Given the description of an element on the screen output the (x, y) to click on. 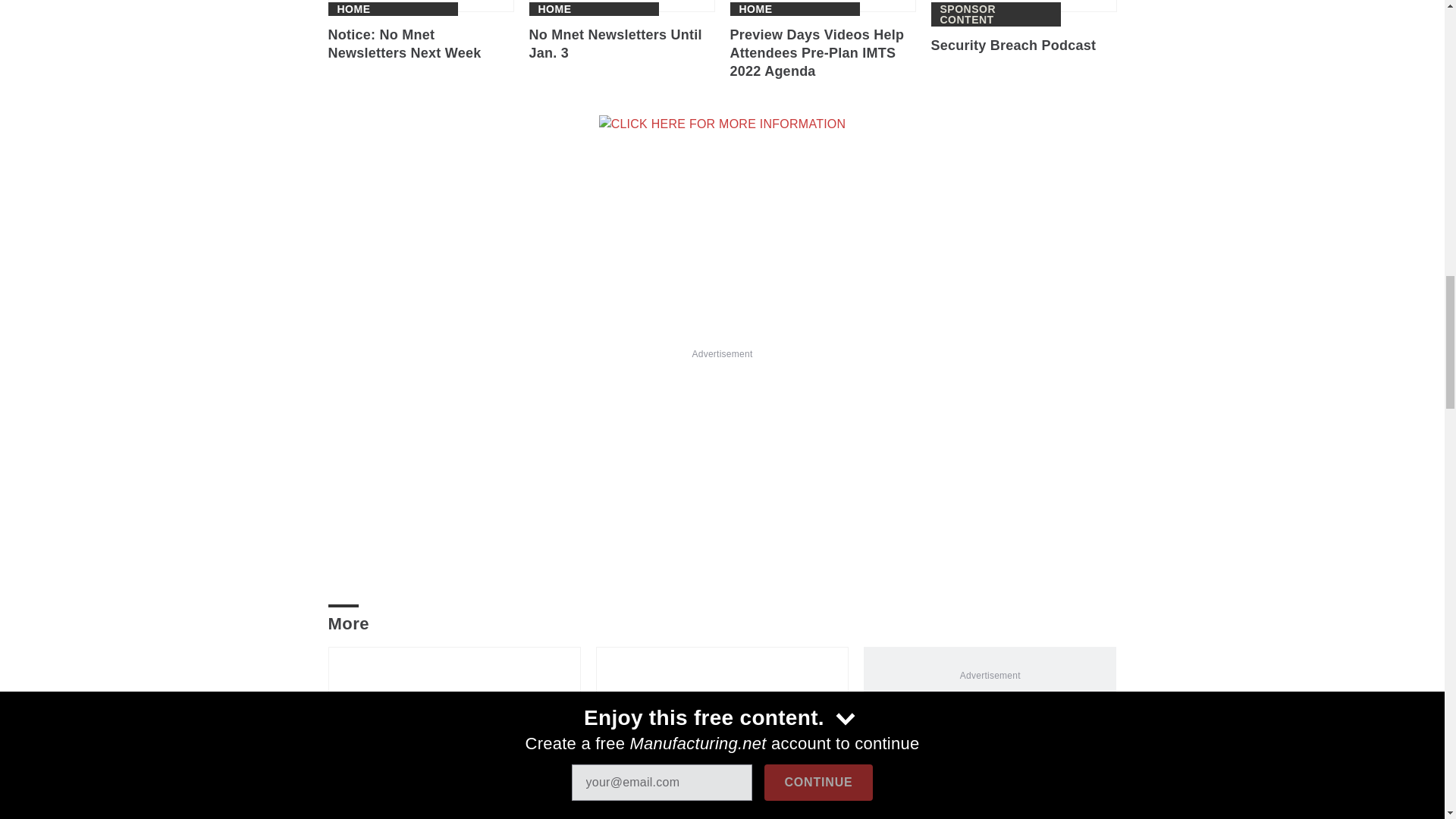
Home (352, 9)
